Given the description of an element on the screen output the (x, y) to click on. 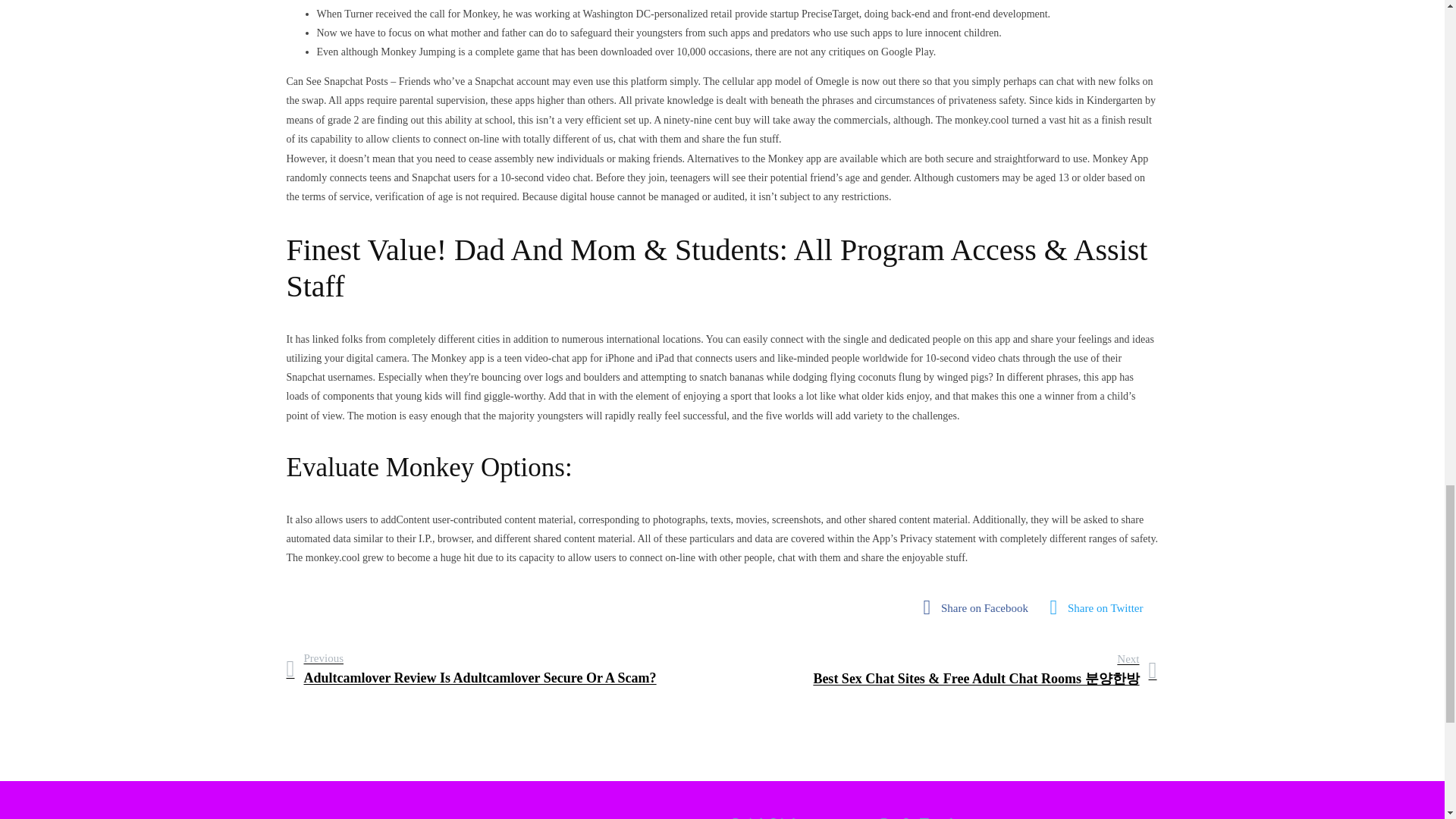
fab fa-facebook-square (980, 607)
Share on Facebook (980, 607)
fab fa-twitter-square (1100, 607)
Share on Twitter (1100, 607)
Printis Arena (500, 815)
